Given the description of an element on the screen output the (x, y) to click on. 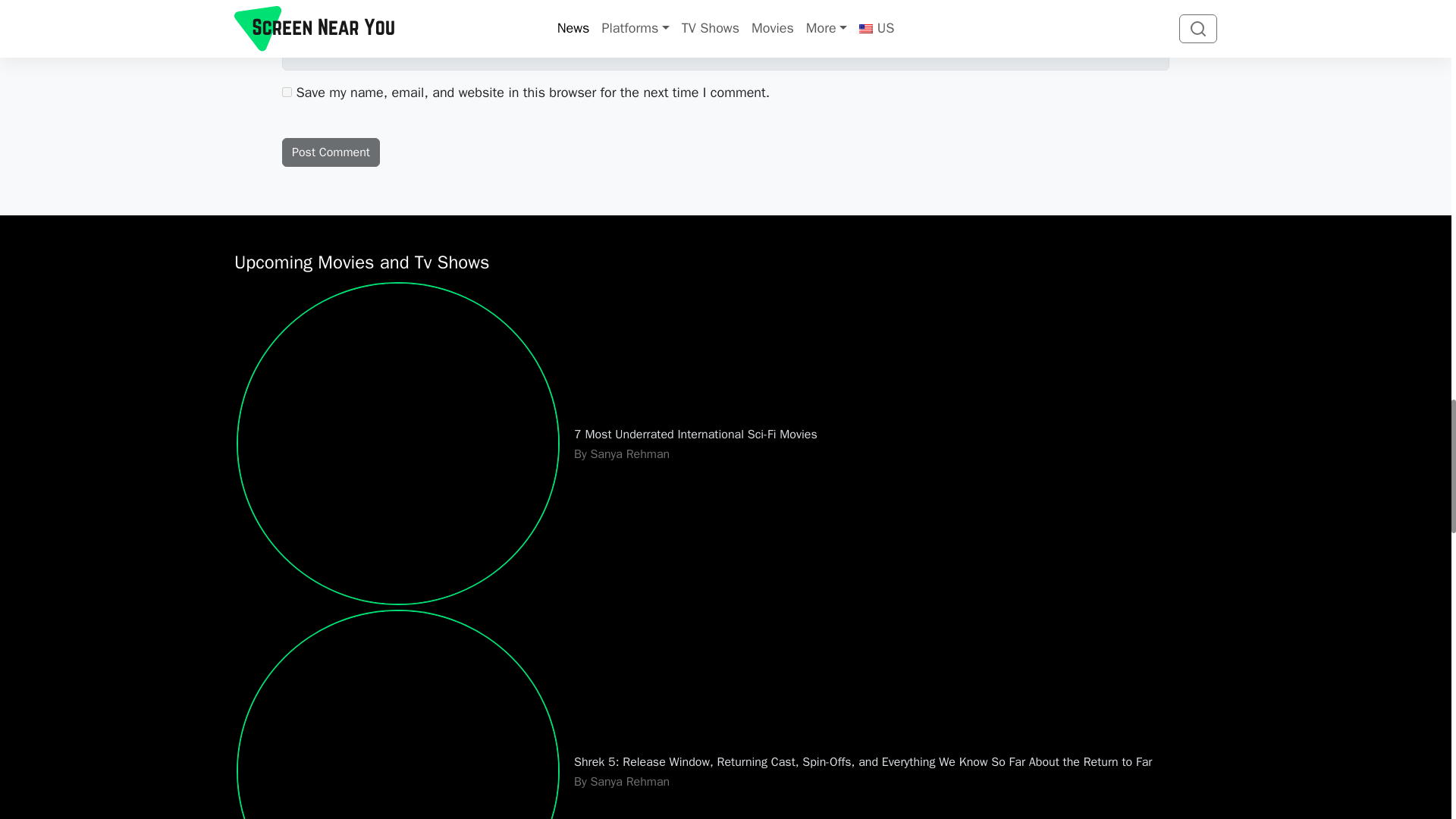
Post Comment (331, 152)
yes (287, 91)
